Given the description of an element on the screen output the (x, y) to click on. 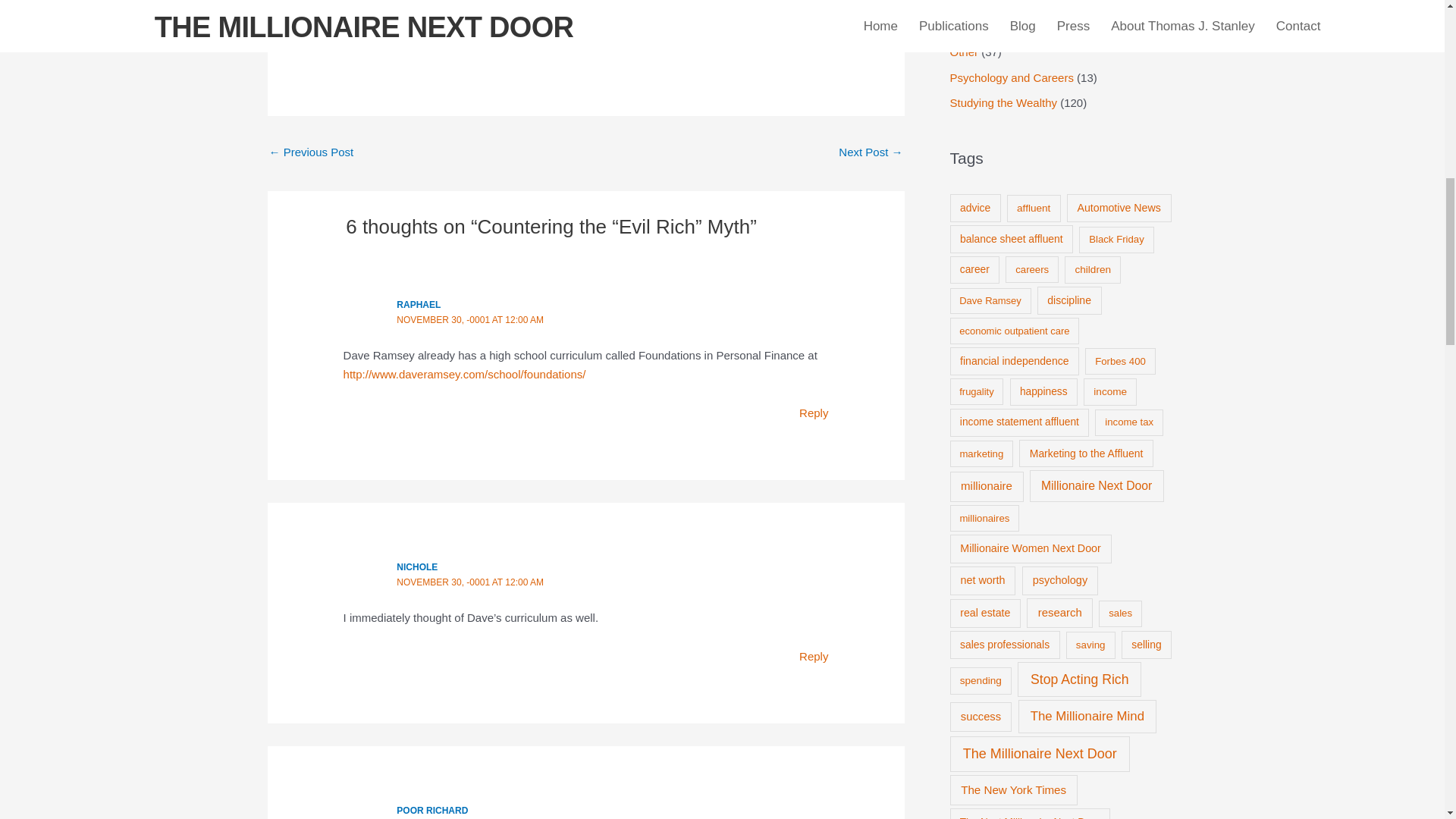
Millionaires' Reflections on High School (870, 153)
Perceptions of the Wealthy by Ranger X. Rich (310, 153)
NOVEMBER 30, -0001 AT 12:00 AM (469, 582)
Reply (813, 656)
NOVEMBER 30, -0001 AT 12:00 AM (469, 319)
Reply (813, 412)
